Given the description of an element on the screen output the (x, y) to click on. 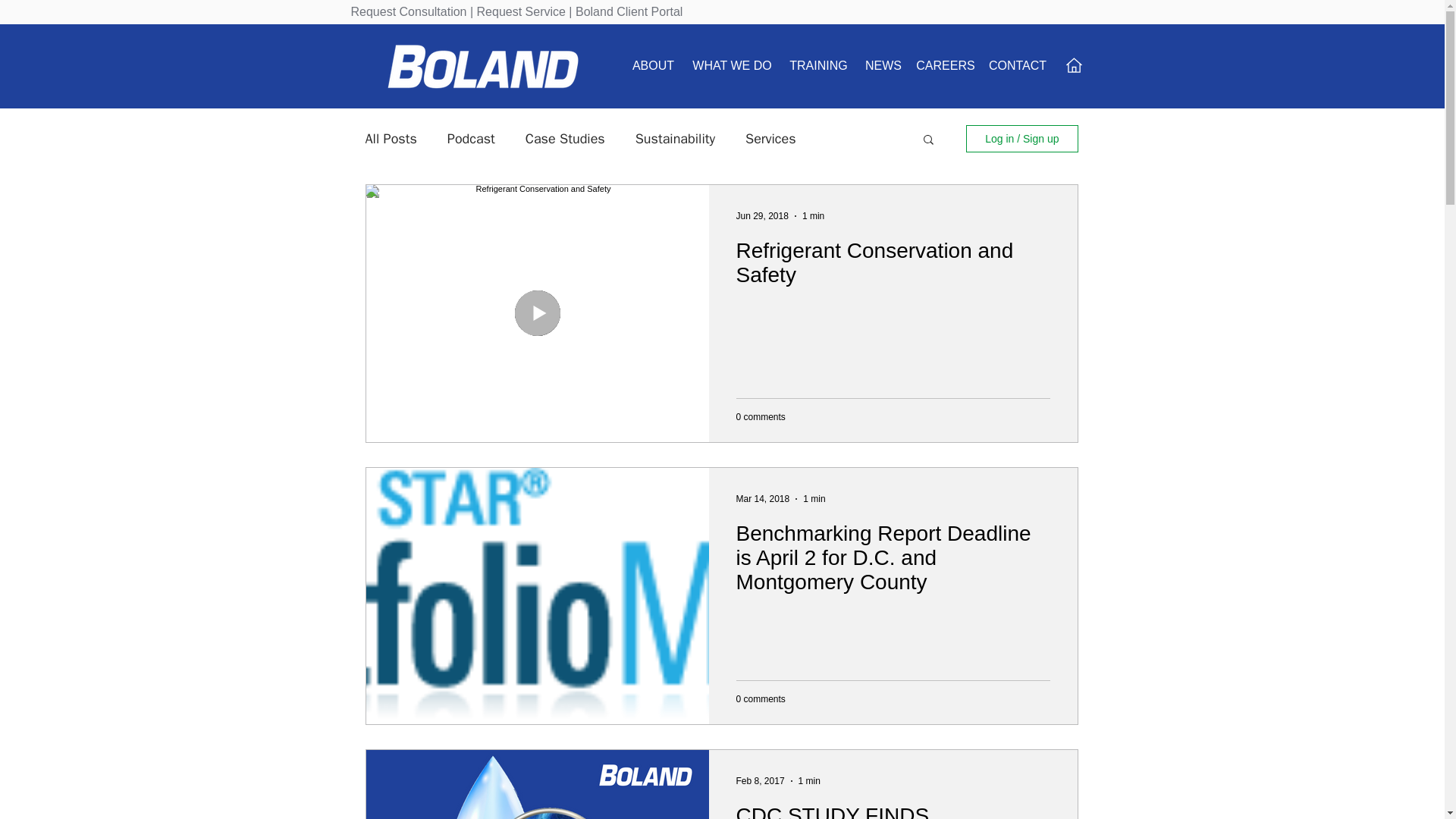
All Posts (390, 138)
0 comments (759, 416)
Boland Client Portal (628, 11)
ABOUT (653, 65)
1 min (814, 498)
Request Service (521, 11)
CONTACT (1017, 65)
Mar 14, 2018 (762, 498)
Refrigerant Conservation and Safety (892, 267)
Feb 8, 2017 (759, 780)
